Given the description of an element on the screen output the (x, y) to click on. 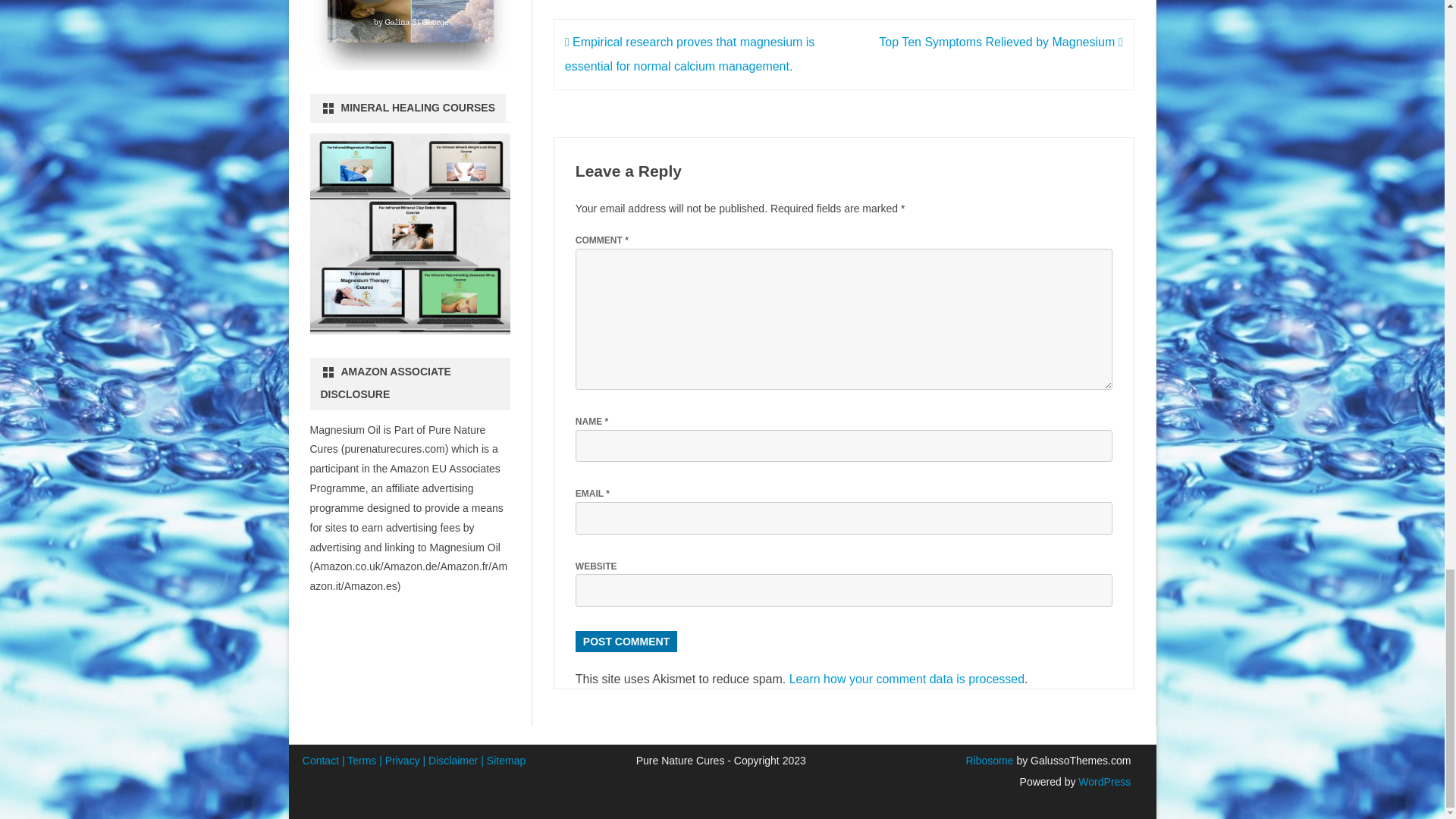
Post Comment (626, 640)
Earth's Humble Healers - Kindle (408, 35)
Far Infrared Magnesium Wrap (408, 233)
